Given the description of an element on the screen output the (x, y) to click on. 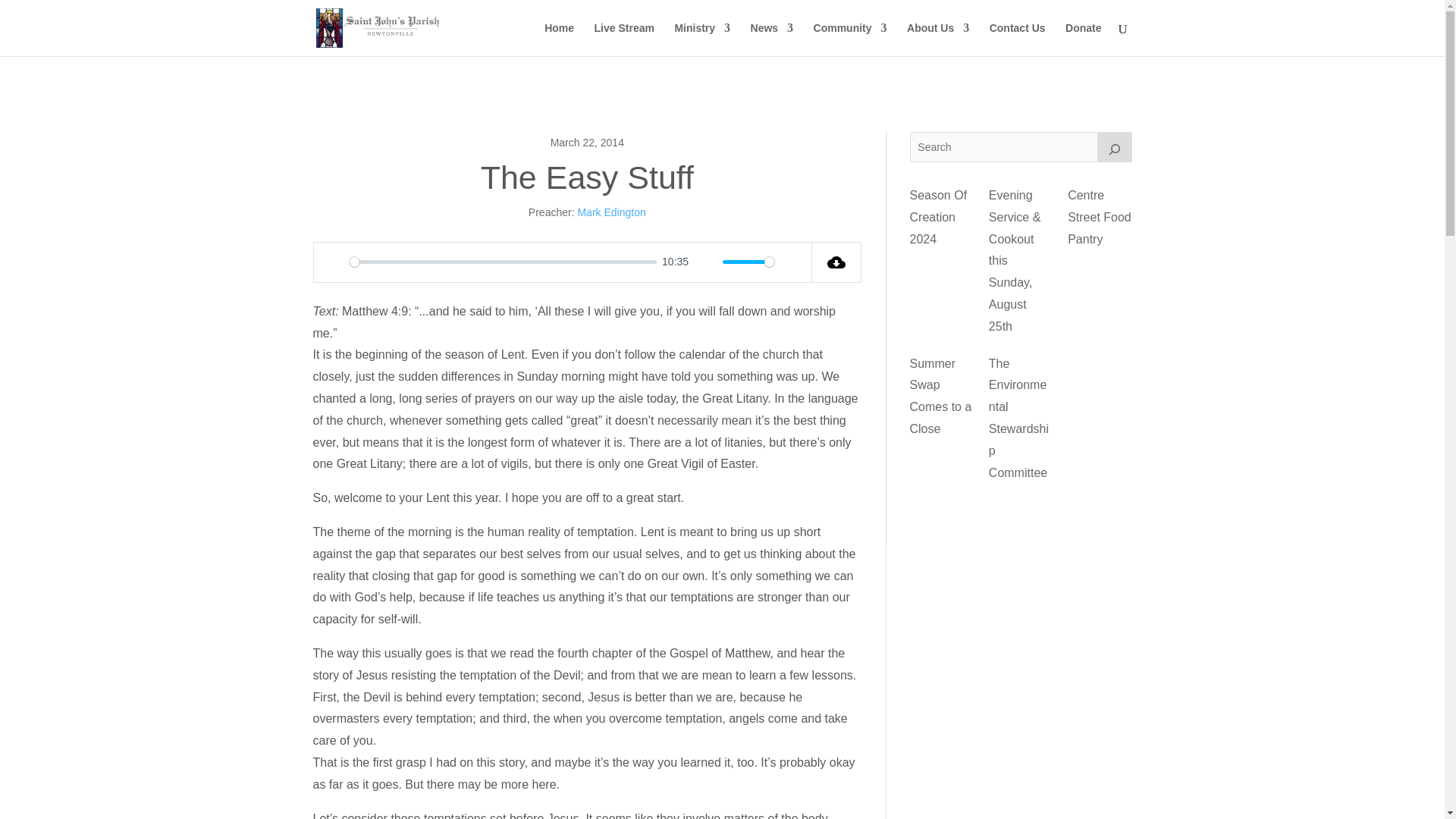
Contact Us (1017, 39)
Live Stream (623, 39)
1 (748, 261)
0 (502, 261)
Community (849, 39)
About Us (938, 39)
Download Audio File (836, 261)
News (772, 39)
Donate (1082, 39)
